Given the description of an element on the screen output the (x, y) to click on. 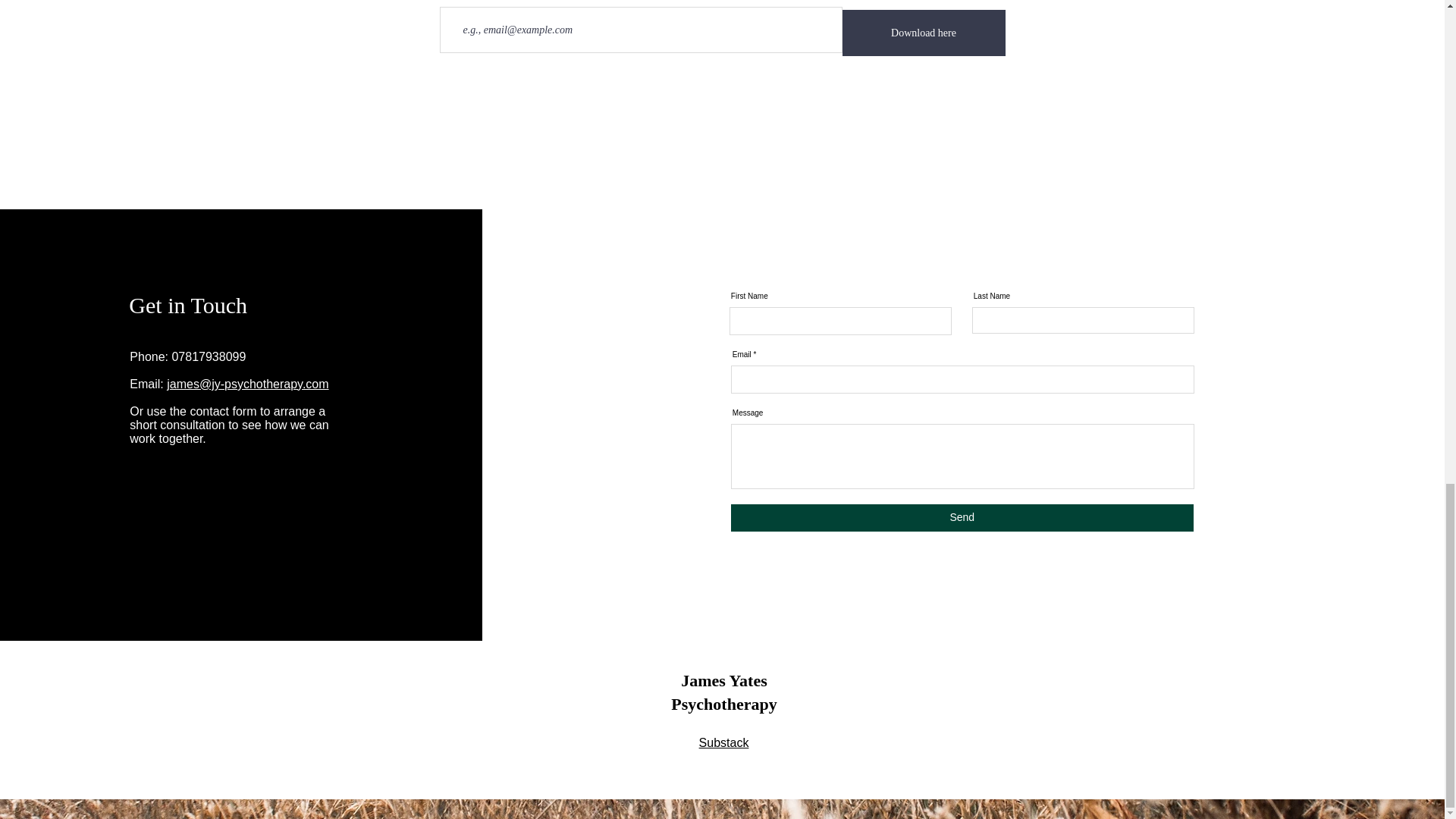
Download here (922, 32)
Substack (723, 742)
Send (961, 517)
